Given the description of an element on the screen output the (x, y) to click on. 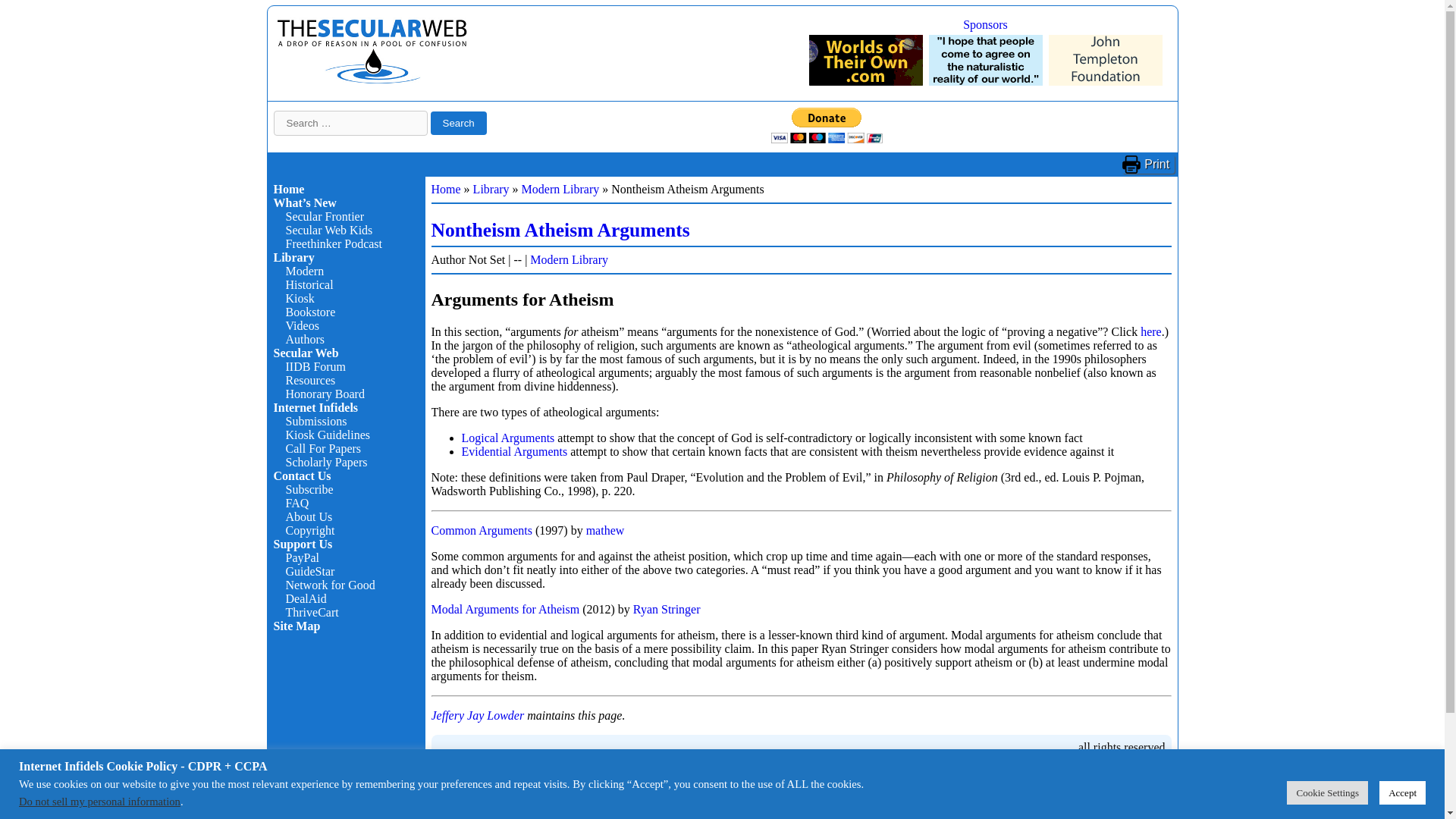
Bookstore (309, 311)
Print (1147, 164)
DealAid (305, 598)
Submissions (315, 420)
Kiosk Guidelines (327, 434)
Secular Web (305, 352)
Search (458, 123)
Site Map (296, 625)
Historical (309, 284)
Support Us (302, 543)
Network for Good (329, 584)
Sponsors (984, 24)
Internet Infidels (371, 79)
Subscribe (309, 489)
Library (293, 256)
